Given the description of an element on the screen output the (x, y) to click on. 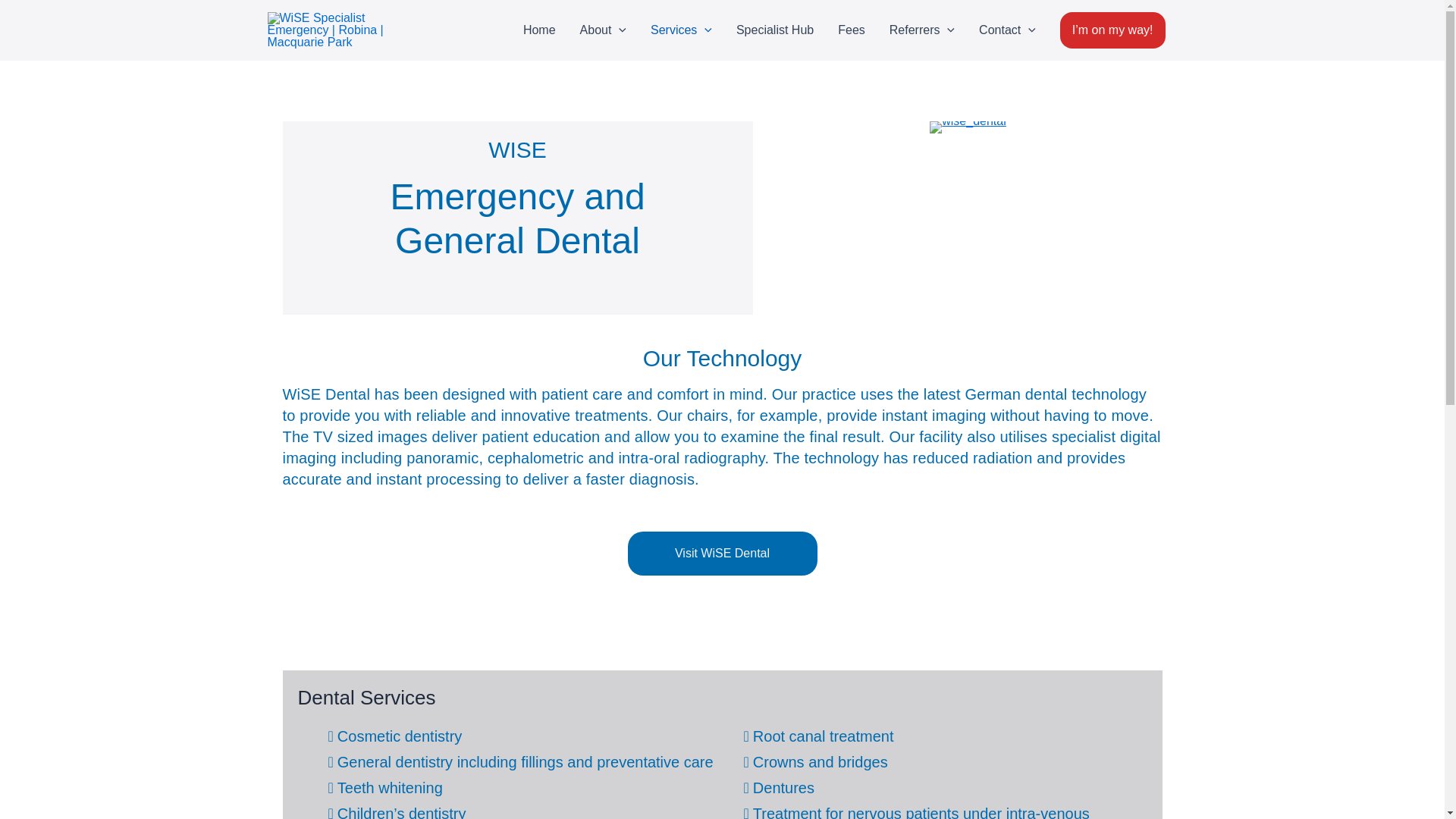
About (603, 30)
Home (539, 30)
Referrers (921, 30)
Contact (1007, 30)
Services (681, 30)
Specialist Hub (774, 30)
